Given the description of an element on the screen output the (x, y) to click on. 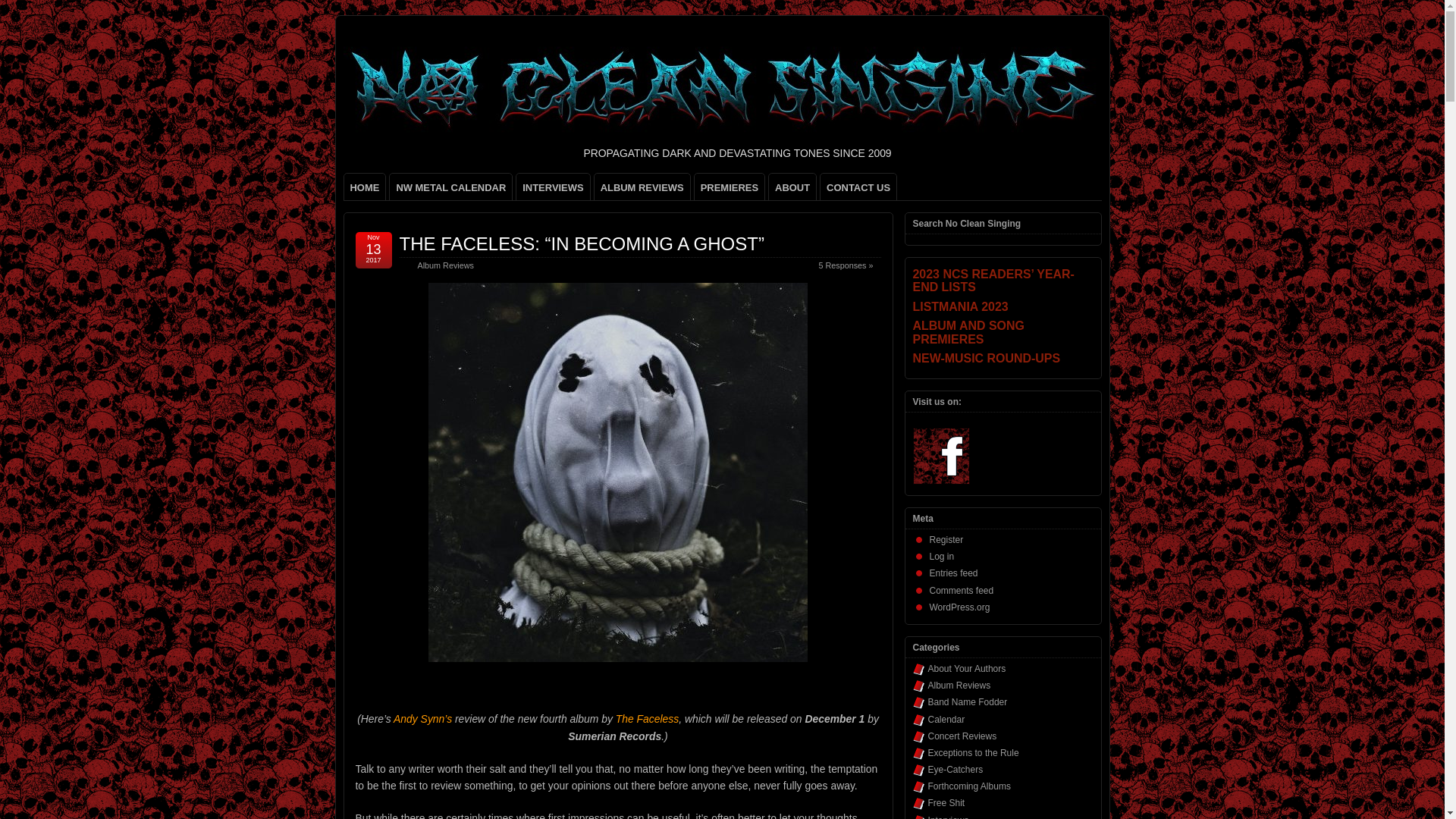
PREMIERES (729, 186)
Album Reviews (444, 265)
HOME (364, 186)
CONTACT US (858, 186)
NW METAL CALENDAR (451, 186)
INTERVIEWS (552, 186)
ALBUM REVIEWS (642, 186)
CONTACT US (858, 186)
ALBUM REVIEWS (642, 186)
Album Reviews (444, 265)
NW METAL CALENDAR (451, 186)
PREMIERES (729, 186)
INTERVIEWS (552, 186)
HOME (364, 186)
ABOUT (791, 186)
